Given the description of an element on the screen output the (x, y) to click on. 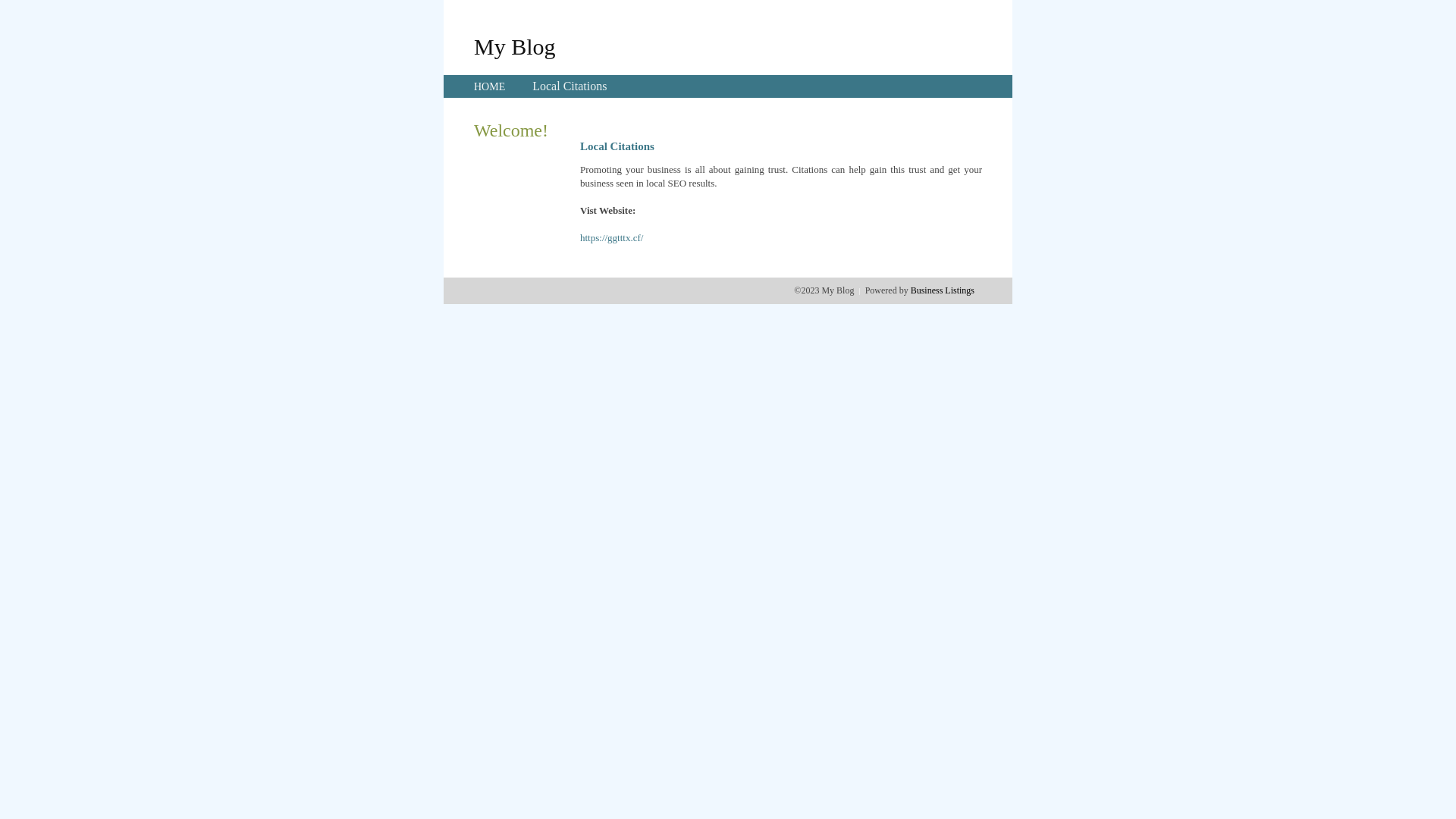
Business Listings Element type: text (942, 290)
HOME Element type: text (489, 86)
Local Citations Element type: text (569, 85)
My Blog Element type: text (514, 46)
https://ggtttx.cf/ Element type: text (611, 237)
